Given the description of an element on the screen output the (x, y) to click on. 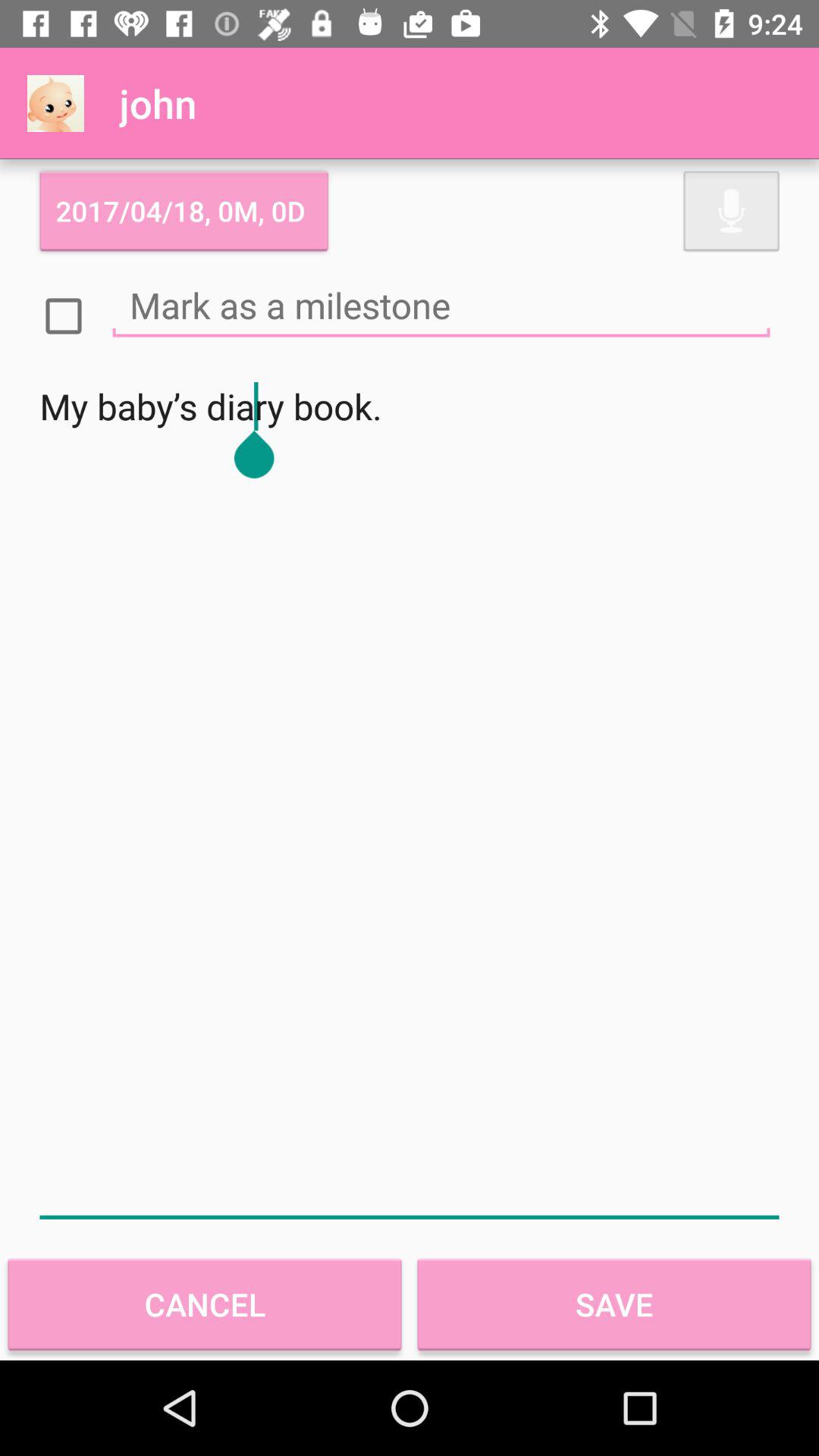
press 2017 04 18 icon (183, 210)
